Given the description of an element on the screen output the (x, y) to click on. 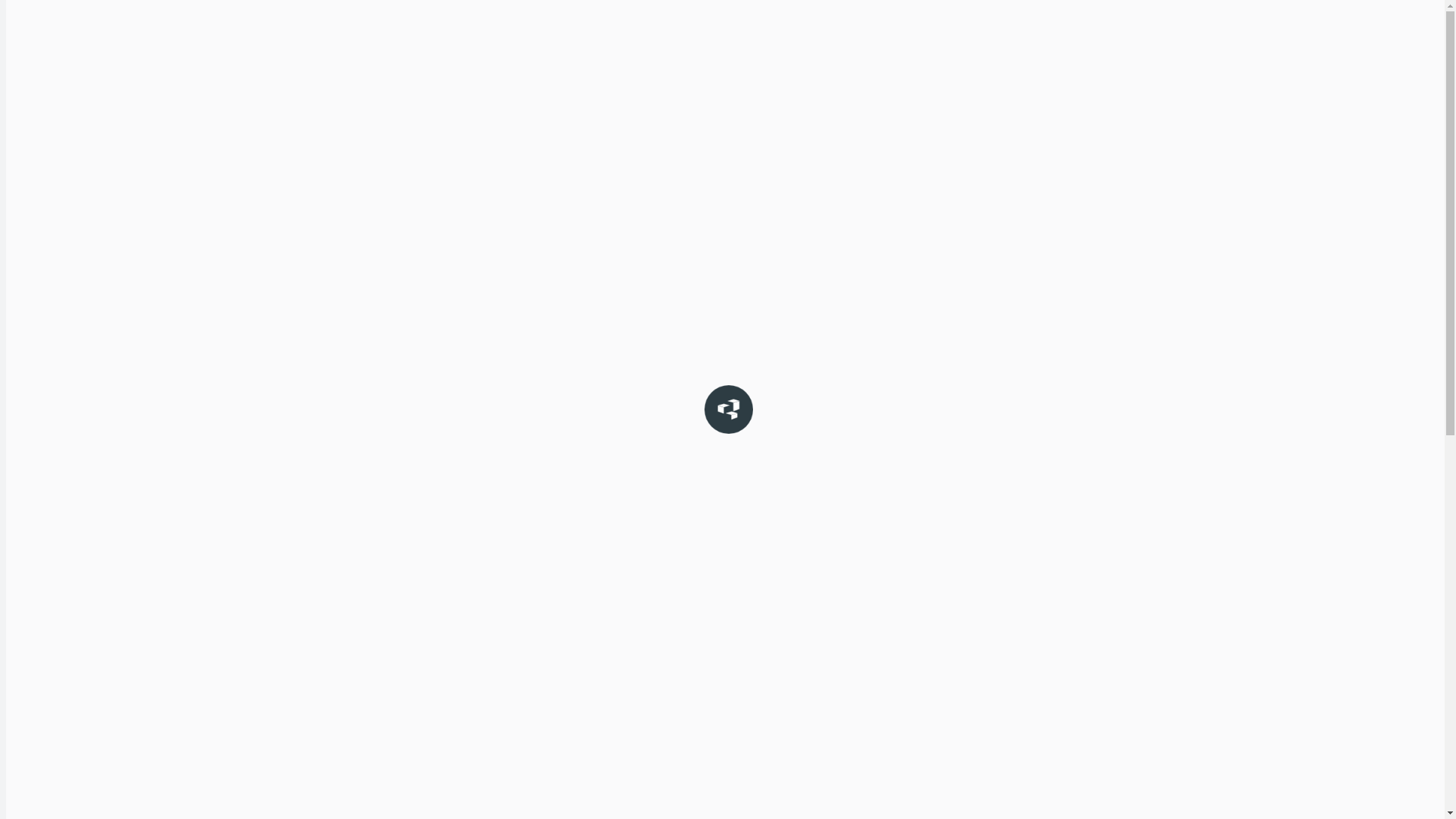
09 24 24 995 Element type: text (40, 305)
Veelgestelde vragen Element type: text (52, 507)
Links Element type: text (1023, 205)
Over ons Element type: text (27, 434)
Te Koop Element type: text (432, 138)
Login vastgoedmakelaar Element type: text (1369, 89)
NL Element type: text (142, 86)
FR Element type: text (142, 105)
Referenties Element type: text (32, 718)
Erfpacht Element type: text (622, 138)
Contact Element type: text (944, 138)
Cookie policy Element type: text (38, 580)
Werkwijze Element type: text (31, 482)
Veelgestelde vragen Element type: text (1057, 189)
Erfpacht Element type: text (26, 693)
Gebruiksvoorwaarden Element type: text (58, 531)
Werkwijze Element type: text (1036, 172)
info@covast.be Element type: text (133, 305)
Nuttige informatie Element type: text (1067, 138)
Over COVAST Element type: text (1044, 155)
Contact Element type: text (24, 458)
Home Element type: text (342, 138)
Privacy policy Element type: text (39, 555)
Te Huur Element type: text (527, 138)
Referenties Element type: text (843, 138)
Te Koop Element type: text (25, 669)
Bod plaatsen Element type: text (729, 138)
Aanmelden / Registreren Element type: text (64, 410)
